Given the description of an element on the screen output the (x, y) to click on. 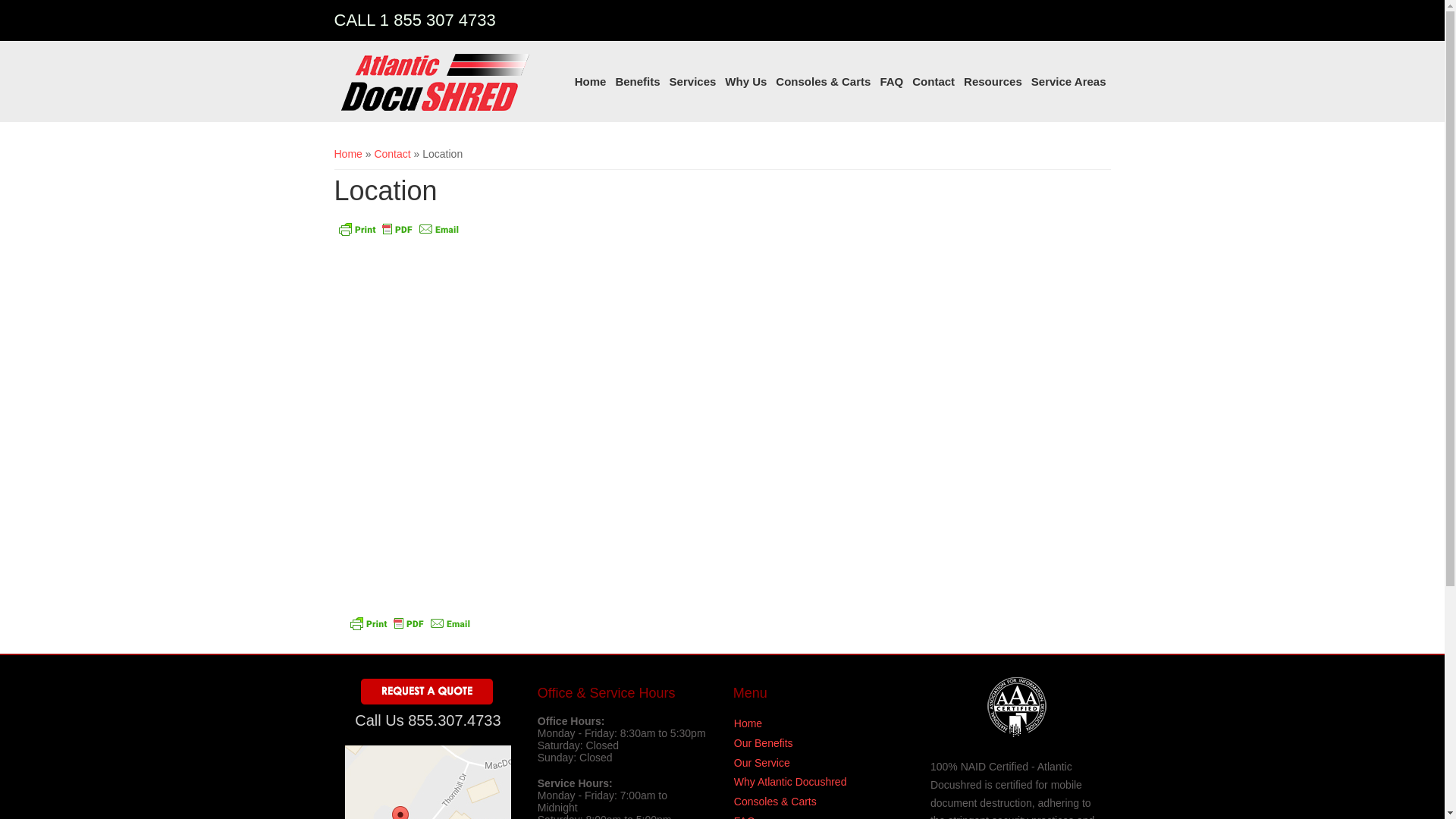
Benefits Element type: text (637, 81)
Why Us Element type: text (745, 81)
Home Element type: text (347, 153)
Service Areas Element type: text (1068, 81)
Our Benefits Element type: text (763, 743)
Consoles & Carts Element type: text (775, 801)
Home Element type: hover (433, 81)
Home Element type: text (748, 723)
Our Service Element type: text (762, 762)
Contact Element type: text (933, 81)
Contact Element type: text (391, 153)
FAQ Element type: text (891, 81)
Print Friendly, PDF & Email Element type: hover (397, 234)
Print Friendly, PDF & Email Element type: hover (409, 628)
Resources Element type: text (992, 81)
Why Atlantic Docushred Element type: text (790, 781)
Home Element type: text (590, 81)
Services Element type: text (693, 81)
Consoles & Carts Element type: text (823, 81)
